Given the description of an element on the screen output the (x, y) to click on. 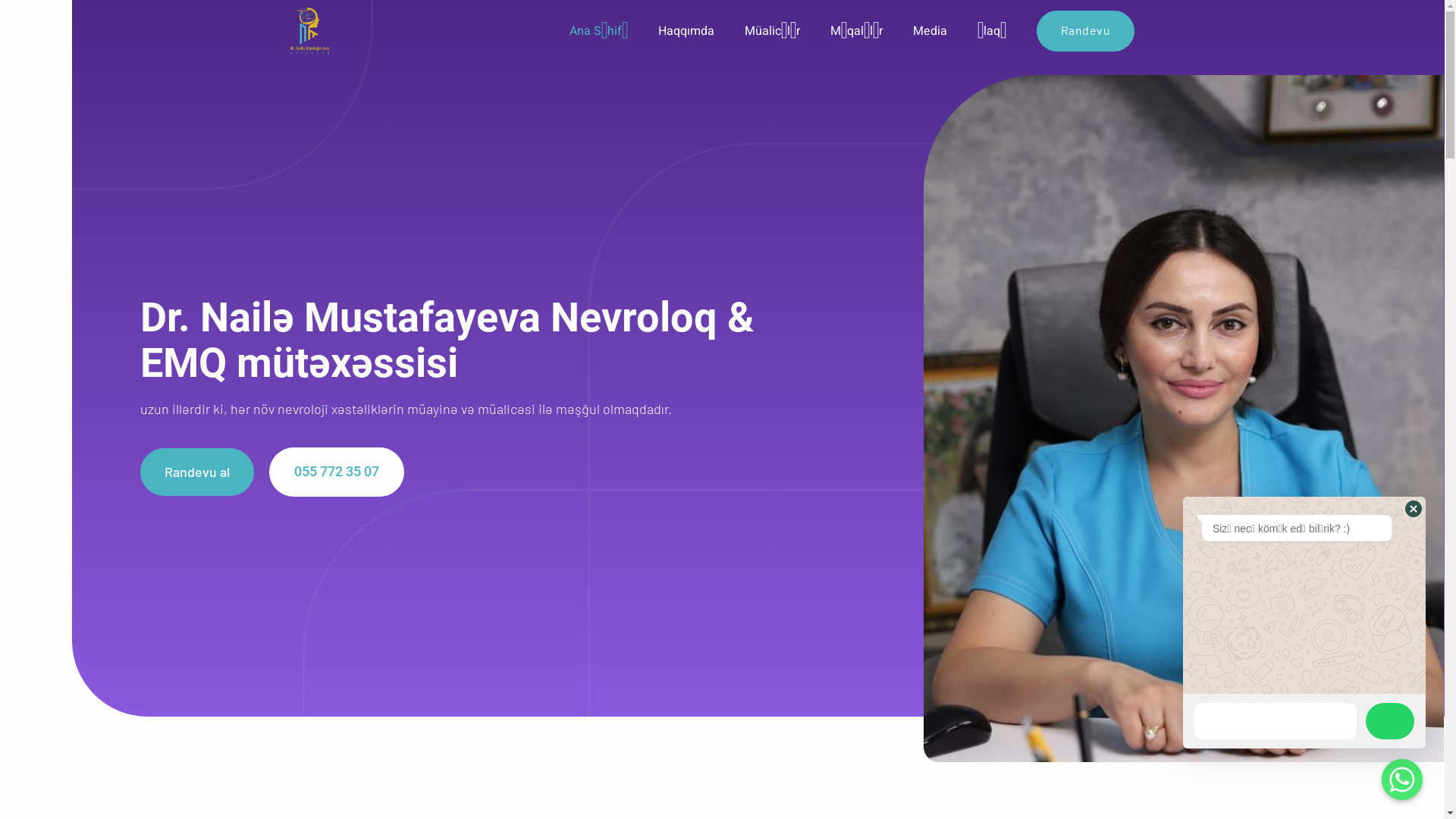
Media Element type: text (945, 30)
Randevu al Element type: text (197, 471)
Randevu Element type: text (1085, 30)
055 772 35 07 Element type: text (336, 471)
